Given the description of an element on the screen output the (x, y) to click on. 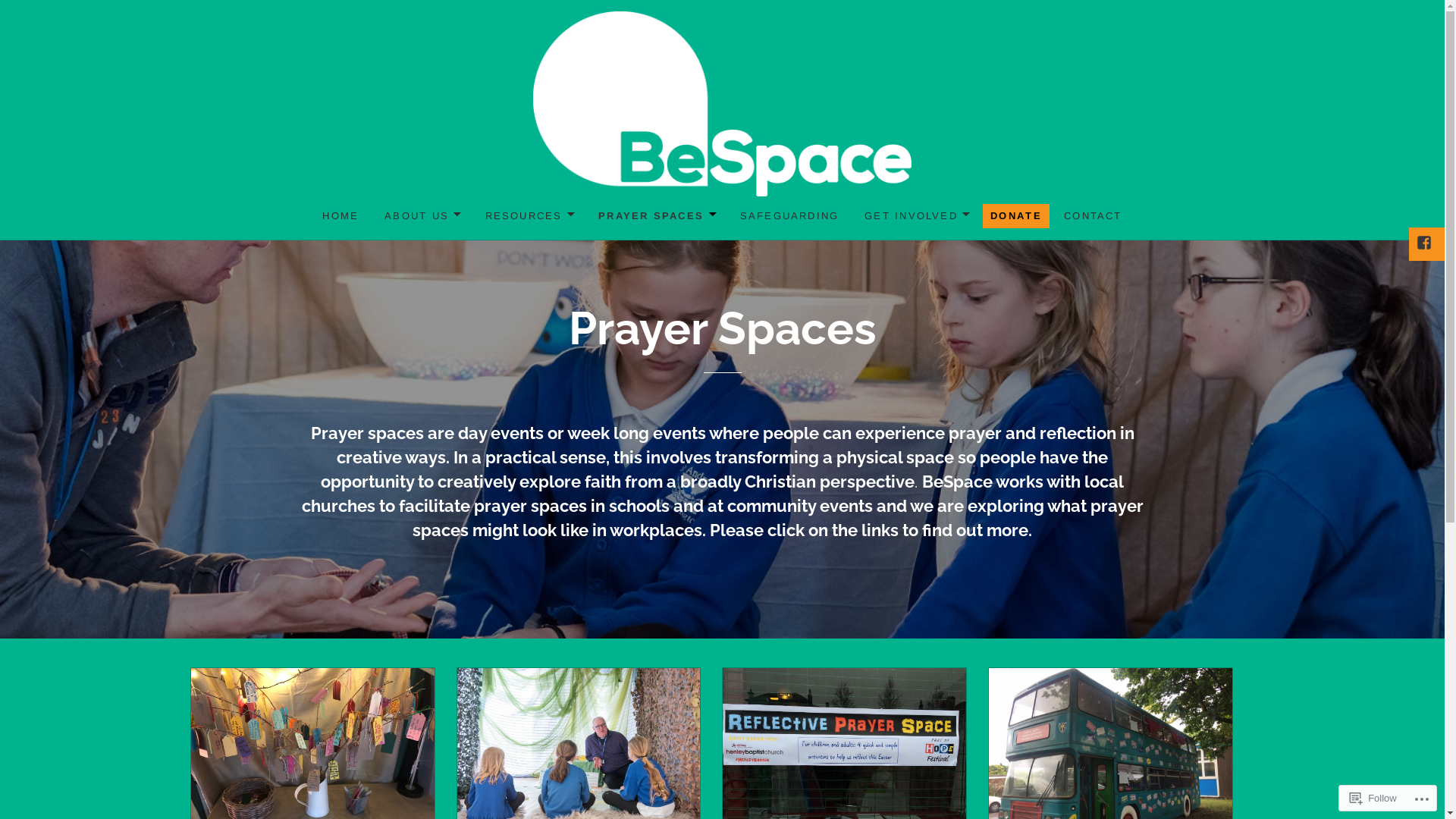
RESOURCES Element type: text (528, 215)
DONATE Element type: text (1016, 215)
ABOUT US Element type: text (421, 215)
GET INVOLVED Element type: text (916, 215)
SAFEGUARDING Element type: text (789, 215)
Follow Element type: text (1372, 797)
PRAYER SPACES Element type: text (655, 215)
BeSpace Element type: text (103, 230)
HOME Element type: text (340, 215)
CONTACT Element type: text (1092, 215)
